Given the description of an element on the screen output the (x, y) to click on. 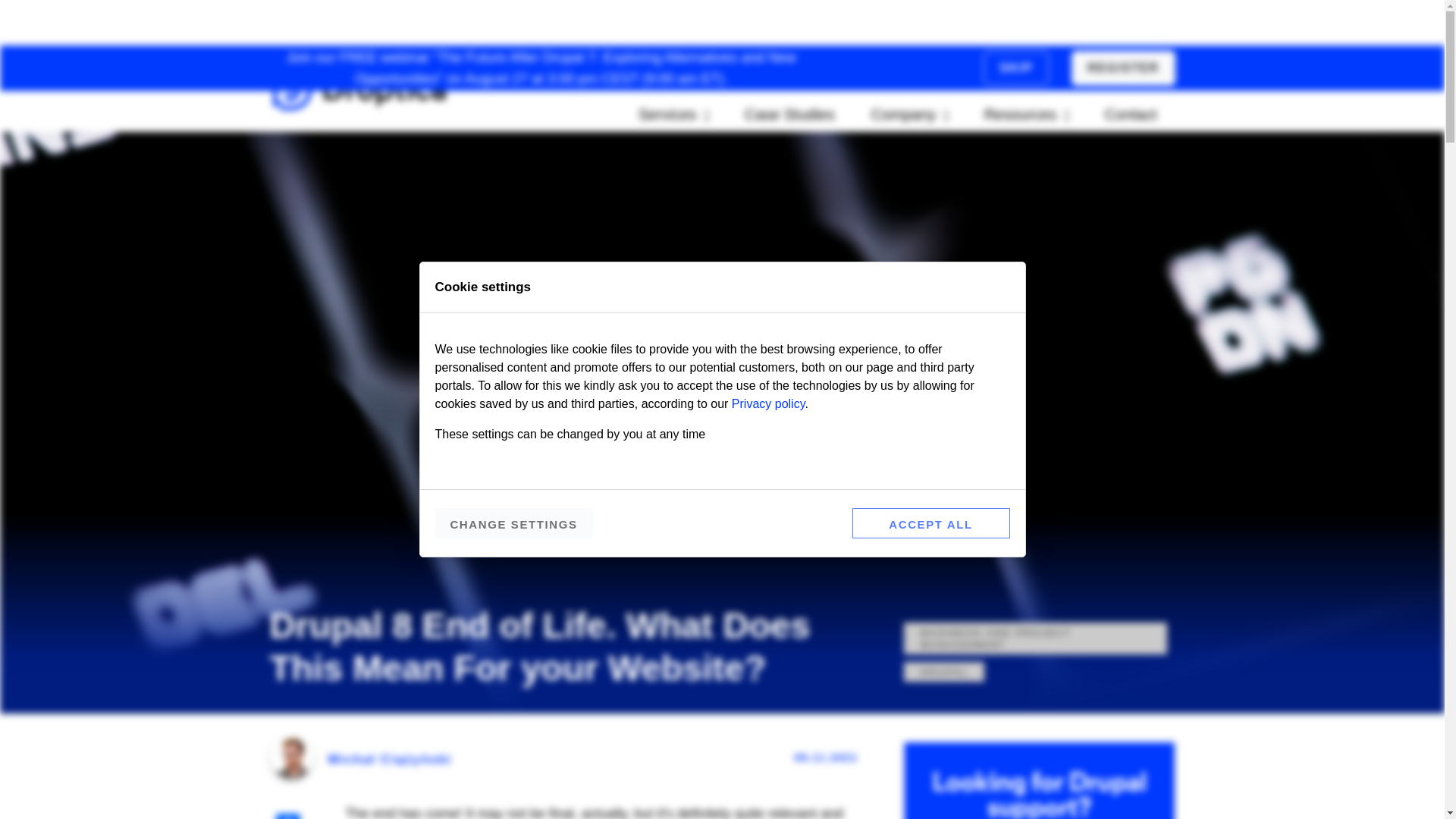
Services (672, 114)
REGISTER (1122, 68)
SKIP (1016, 68)
CAREER (1001, 67)
Skip to the home page (358, 88)
